Given the description of an element on the screen output the (x, y) to click on. 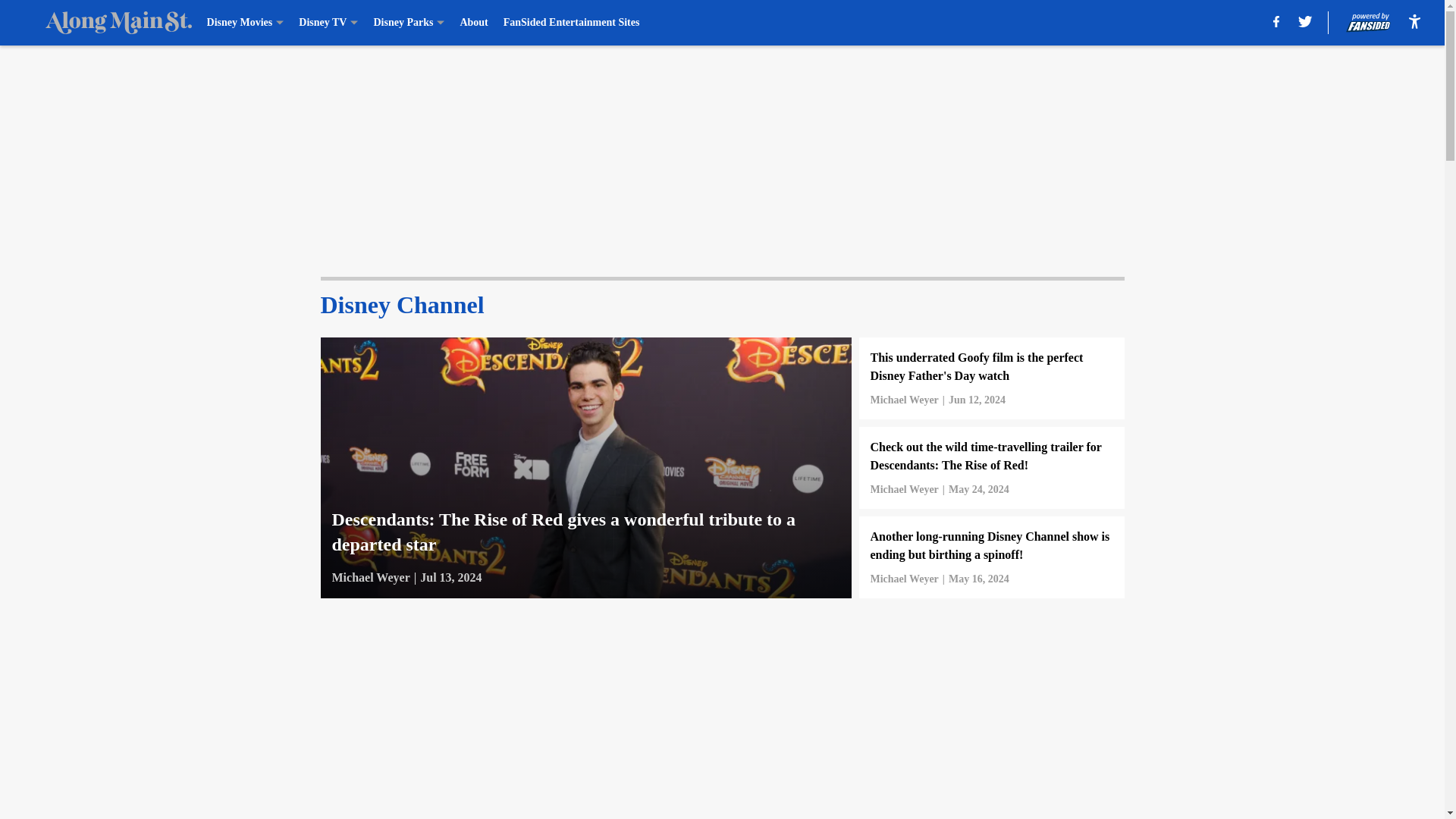
Disney TV (328, 22)
Michael Weyer (904, 400)
Disney Parks (408, 22)
About (473, 22)
Disney Movies (244, 22)
Michael Weyer (370, 577)
FanSided Entertainment Sites (571, 22)
Michael Weyer (904, 579)
Michael Weyer (904, 489)
